Given the description of an element on the screen output the (x, y) to click on. 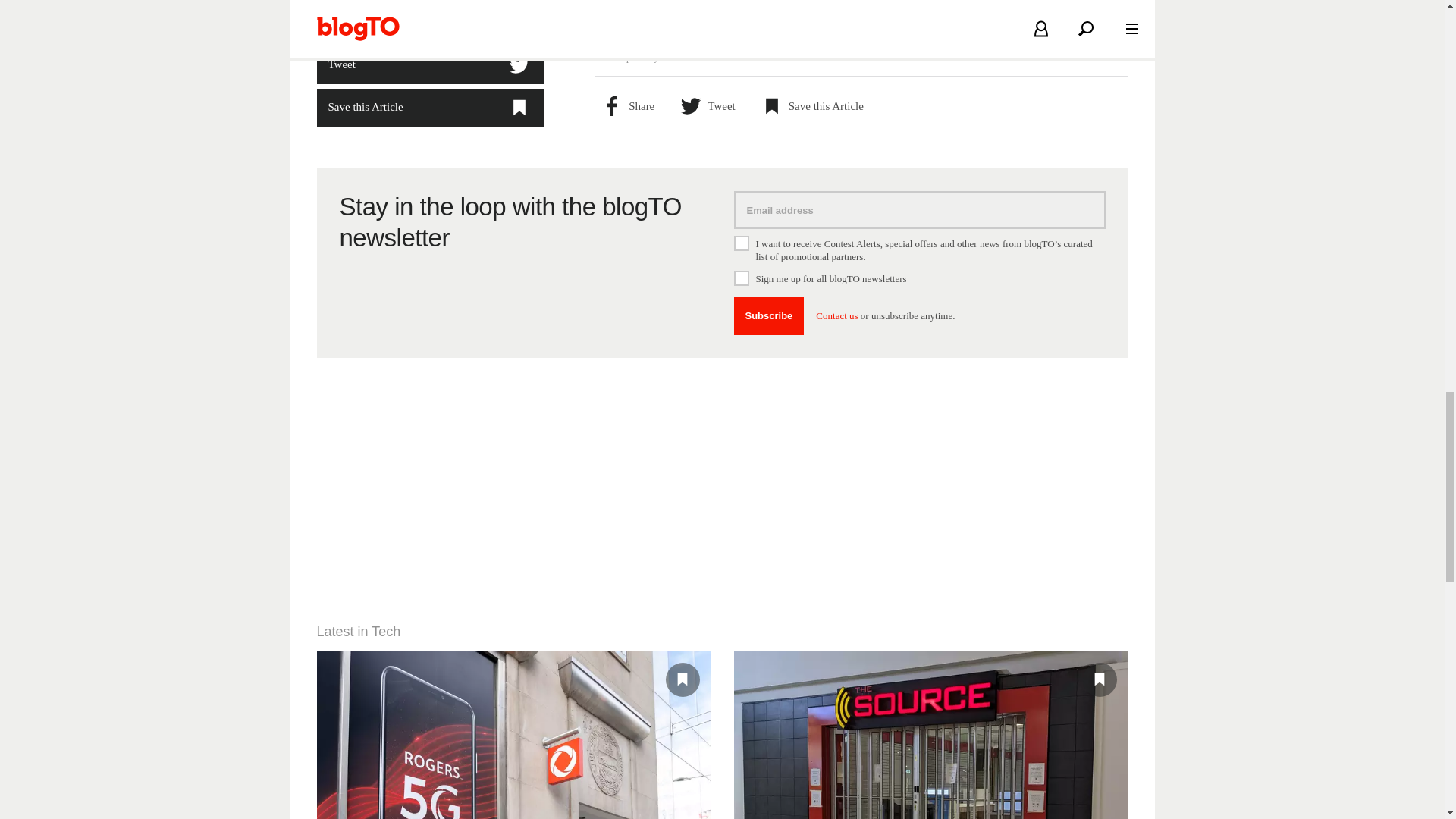
Subscribe (769, 315)
